Given the description of an element on the screen output the (x, y) to click on. 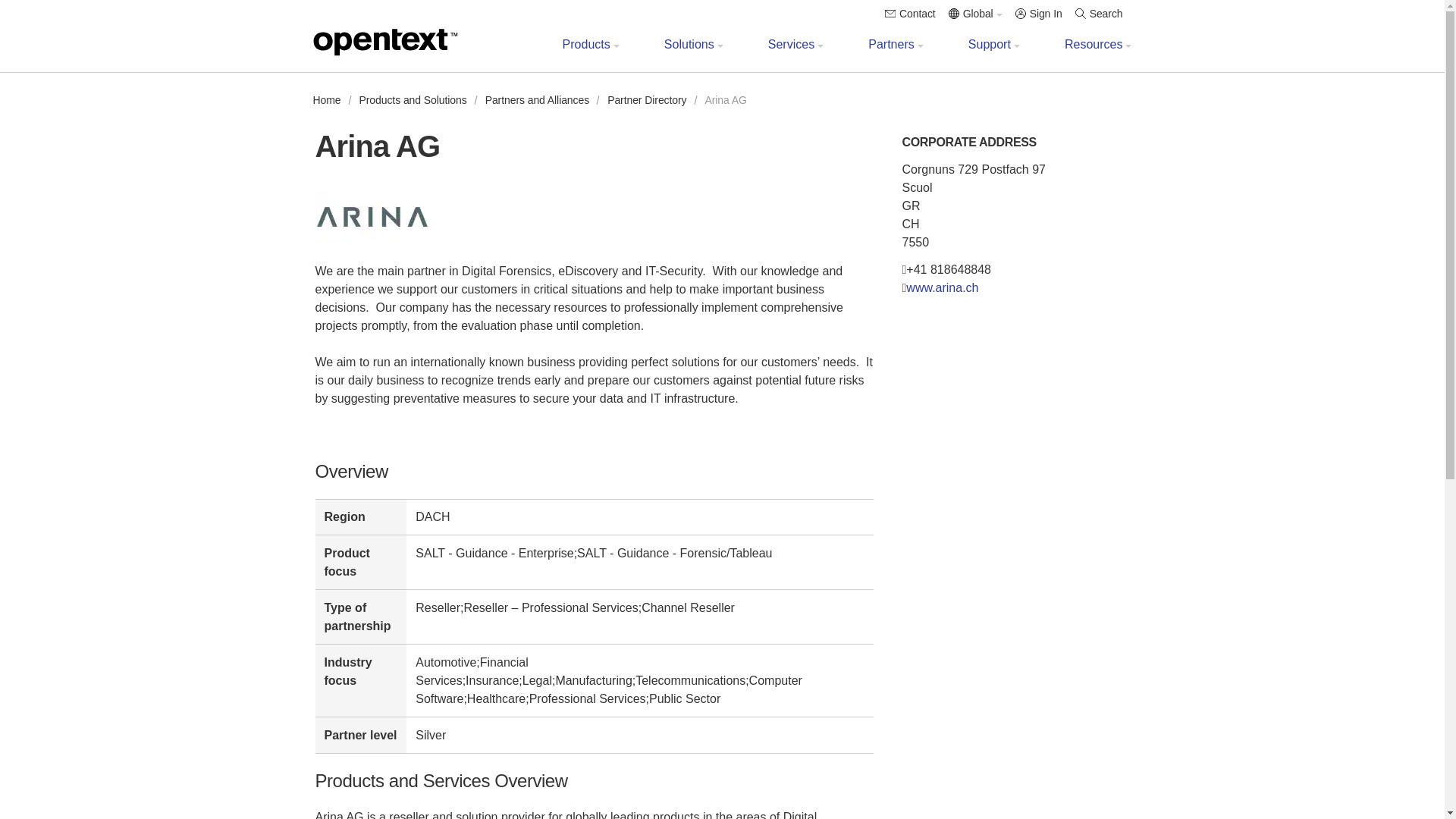
Products (586, 54)
Solutions (689, 54)
OpenText (385, 42)
